Given the description of an element on the screen output the (x, y) to click on. 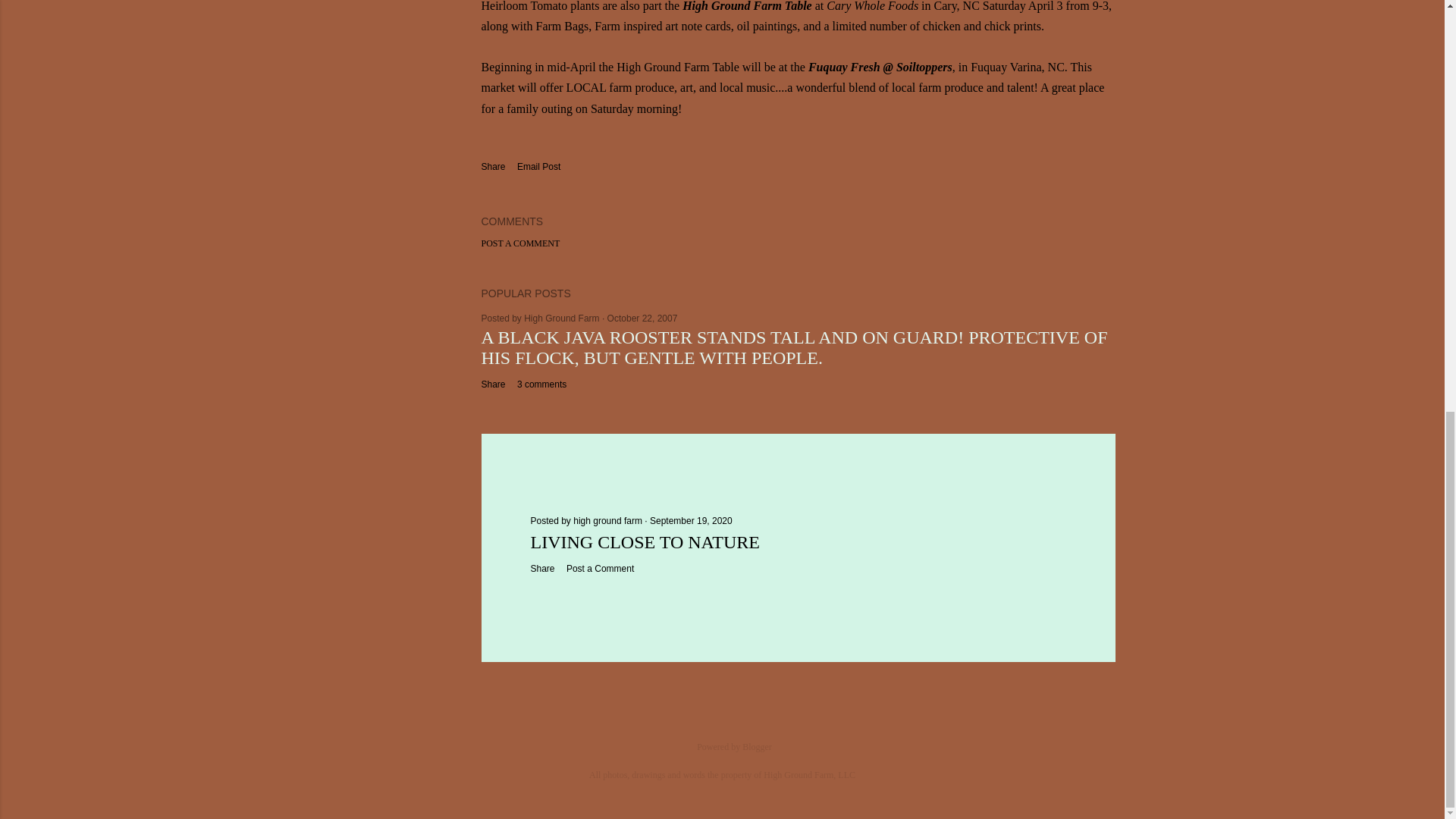
Email Post (538, 166)
LIVING CLOSE TO NATURE (645, 542)
Share (542, 568)
POST A COMMENT (519, 243)
Share (492, 384)
3 comments (541, 384)
Share (492, 166)
September 19, 2020 (690, 520)
Post a Comment (599, 568)
high ground farm (609, 520)
permanent link (642, 317)
October 22, 2007 (642, 317)
